Given the description of an element on the screen output the (x, y) to click on. 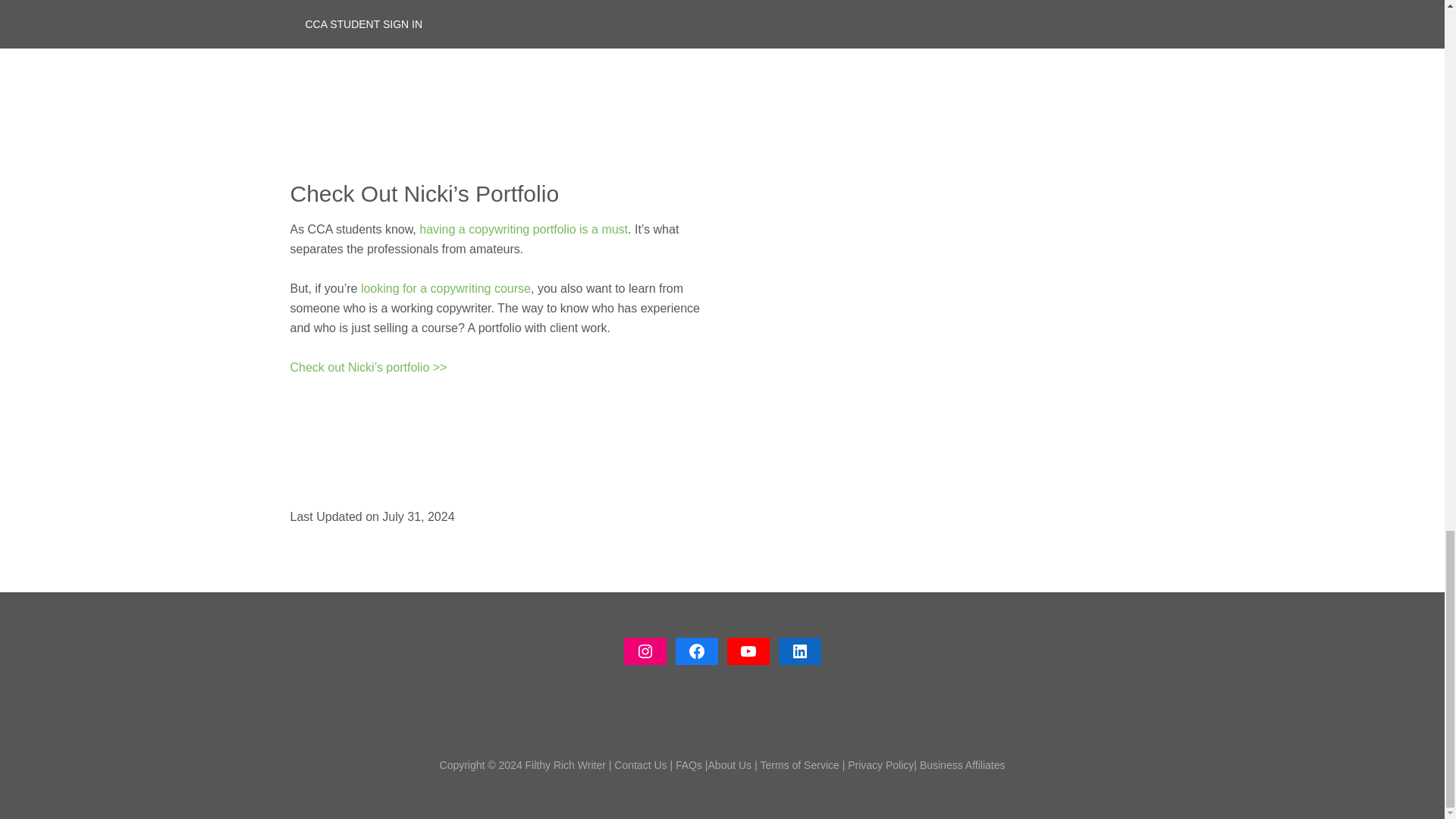
Facebook (696, 651)
YouTube (747, 651)
having a copywriting portfolio is a must (523, 228)
looking for a copywriting course (446, 287)
Meet Nicki, Founder of Filthy Rich Writer (478, 68)
Instagram (644, 651)
